Given the description of an element on the screen output the (x, y) to click on. 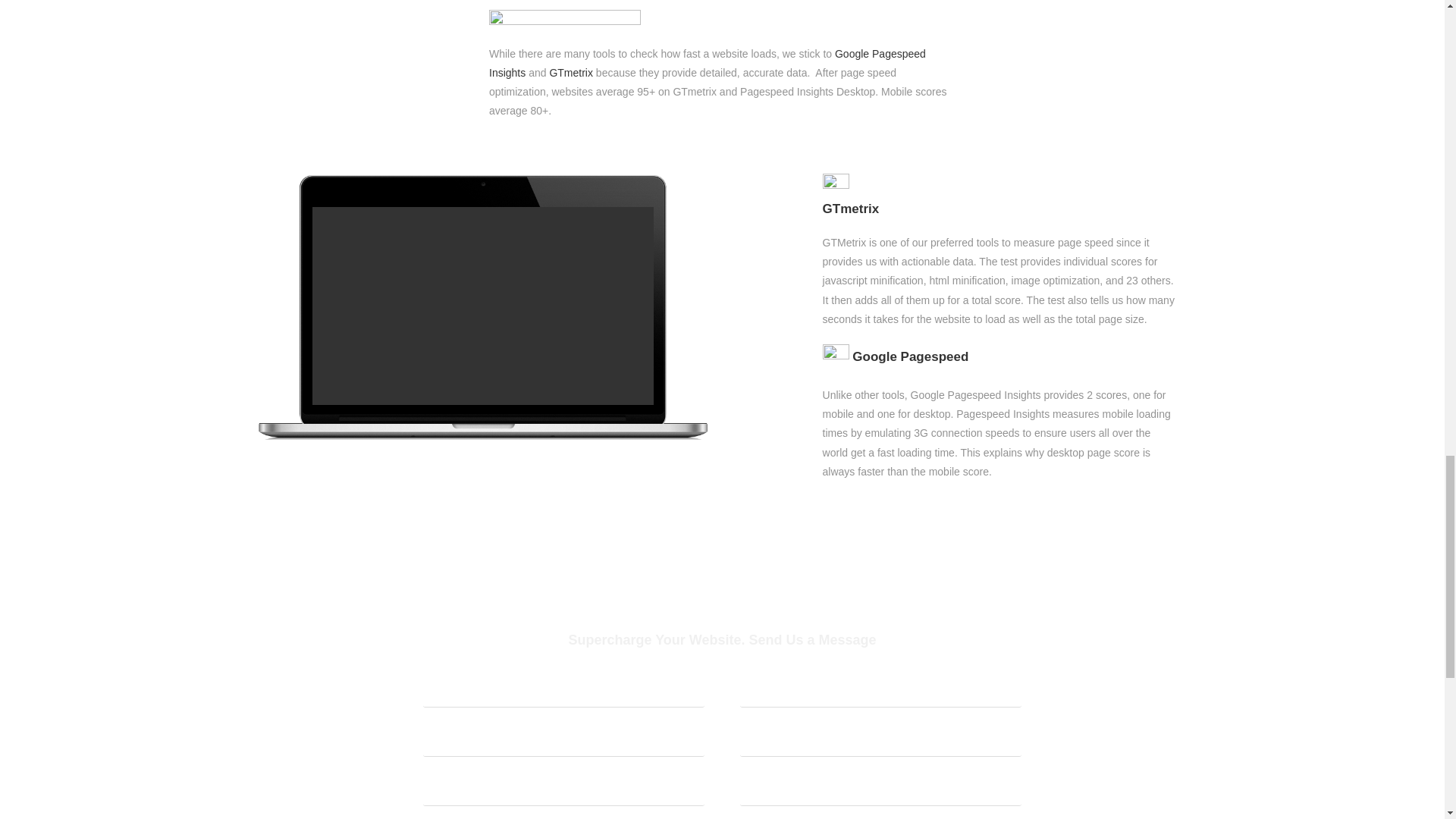
Google Pagespeed Insights (707, 62)
GTmetrix (570, 72)
